Given the description of an element on the screen output the (x, y) to click on. 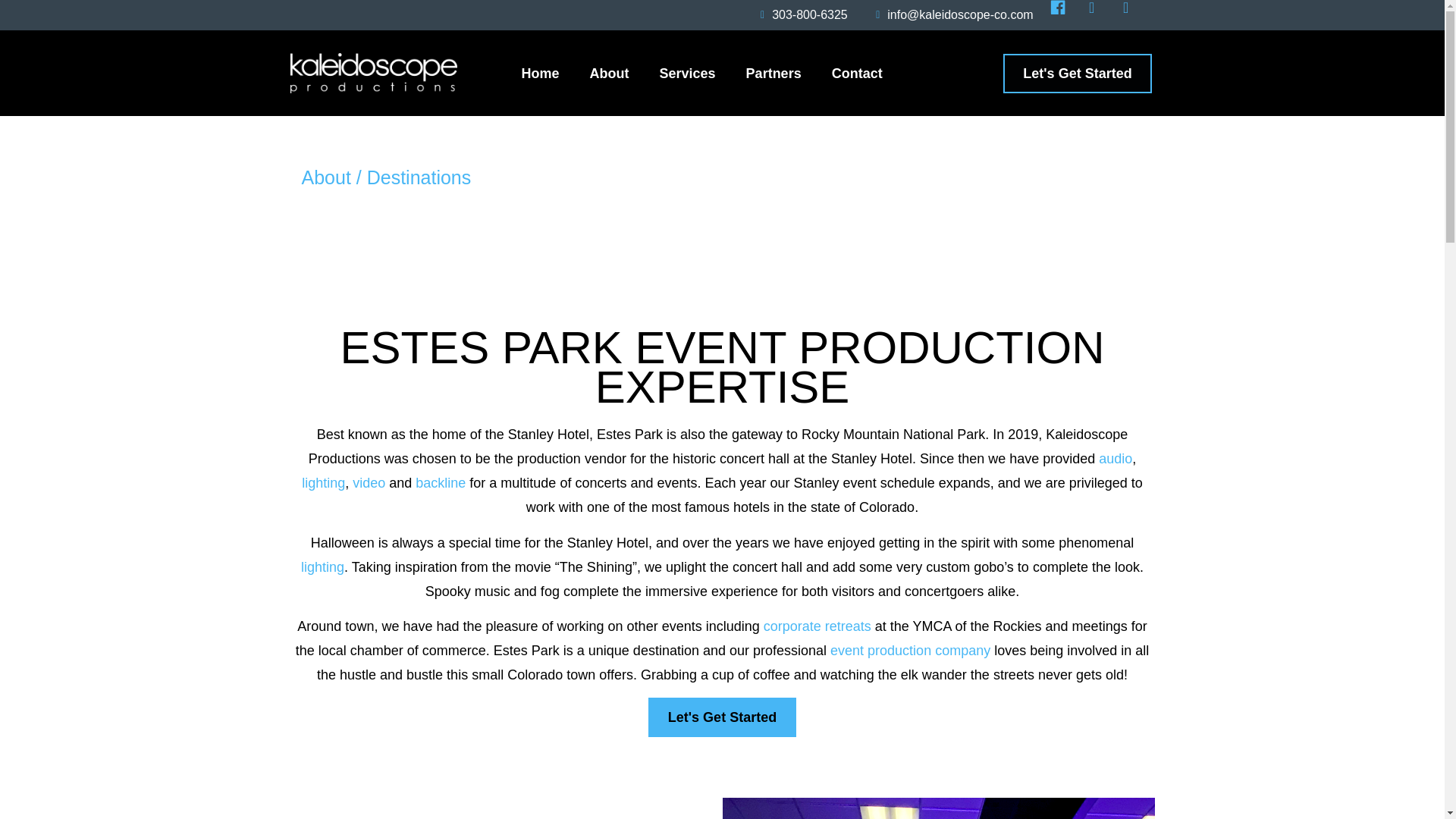
Partners (773, 73)
About (610, 73)
303-800-6325 (799, 14)
Contact (857, 73)
Home (540, 73)
Services (687, 73)
